Given the description of an element on the screen output the (x, y) to click on. 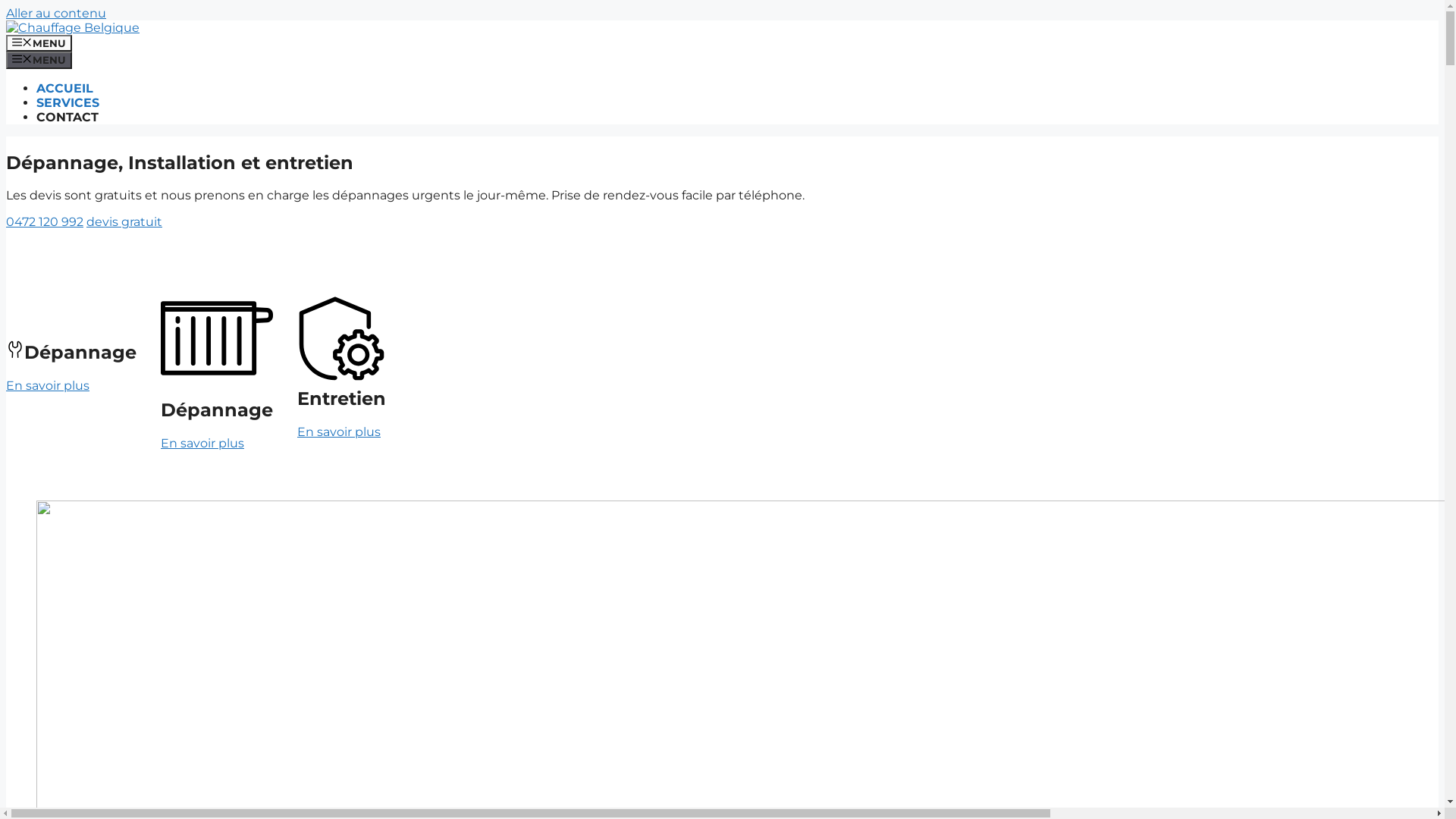
Aller au contenu Element type: text (56, 13)
MENU Element type: text (39, 59)
CONTACT Element type: text (67, 116)
ACCUEIL Element type: text (64, 88)
SERVICES Element type: text (67, 102)
En savoir plus Element type: text (202, 443)
MENU Element type: text (39, 42)
devis gratuit Element type: text (124, 221)
En savoir plus Element type: text (47, 385)
En savoir plus Element type: text (338, 431)
Chauffage Belgique Element type: hover (72, 27)
0472 120 992 Element type: text (44, 221)
